Given the description of an element on the screen output the (x, y) to click on. 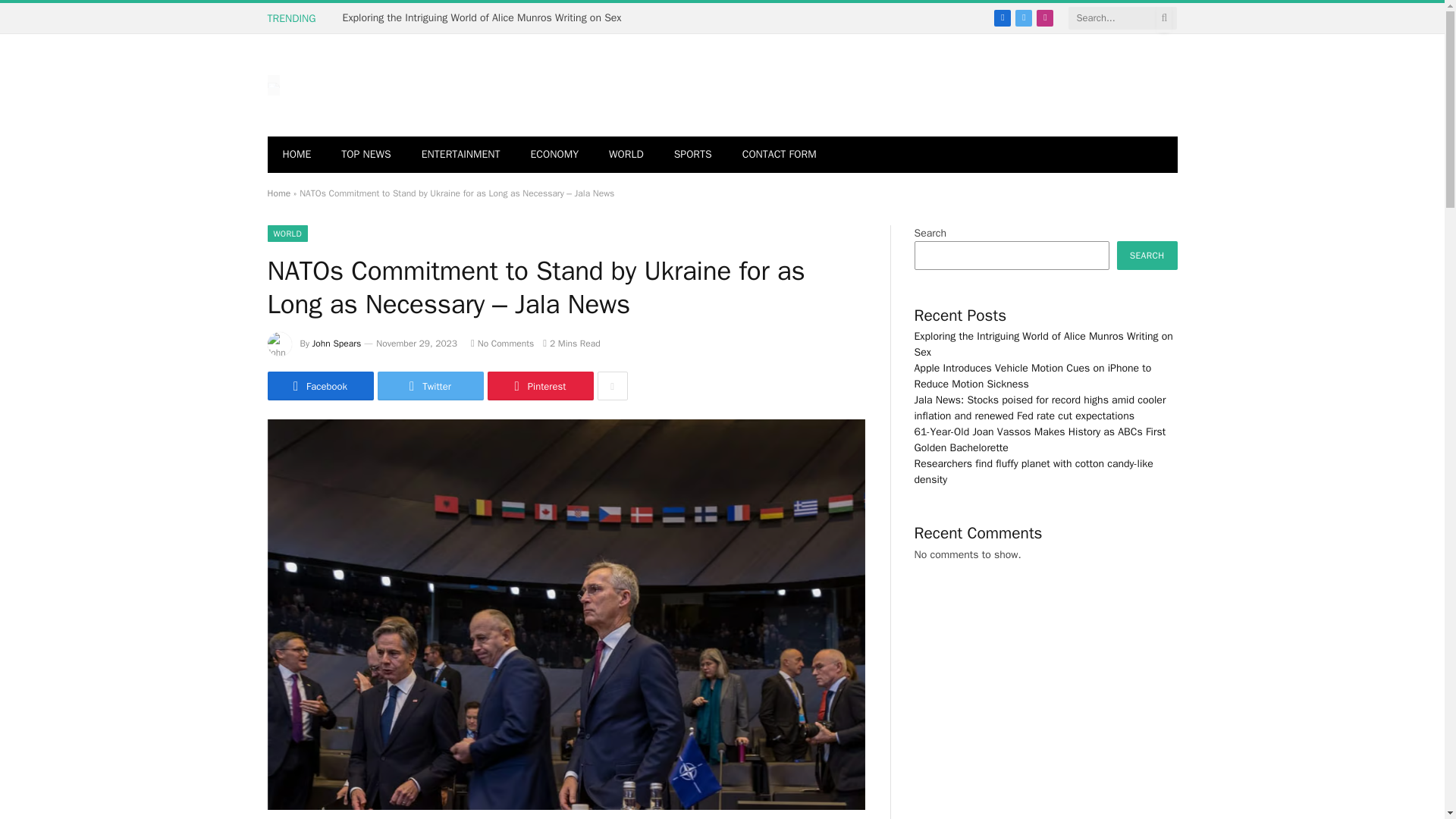
Share on Facebook (319, 385)
No Comments (502, 343)
Facebook (319, 385)
SPORTS (692, 154)
Twitter (430, 385)
ENTERTAINMENT (460, 154)
John Spears (337, 343)
ECONOMY (554, 154)
Home (277, 193)
Posts by John Spears (337, 343)
CONTACT FORM (778, 154)
Jala News (272, 85)
TOP NEWS (366, 154)
Show More Social Sharing (611, 385)
